Given the description of an element on the screen output the (x, y) to click on. 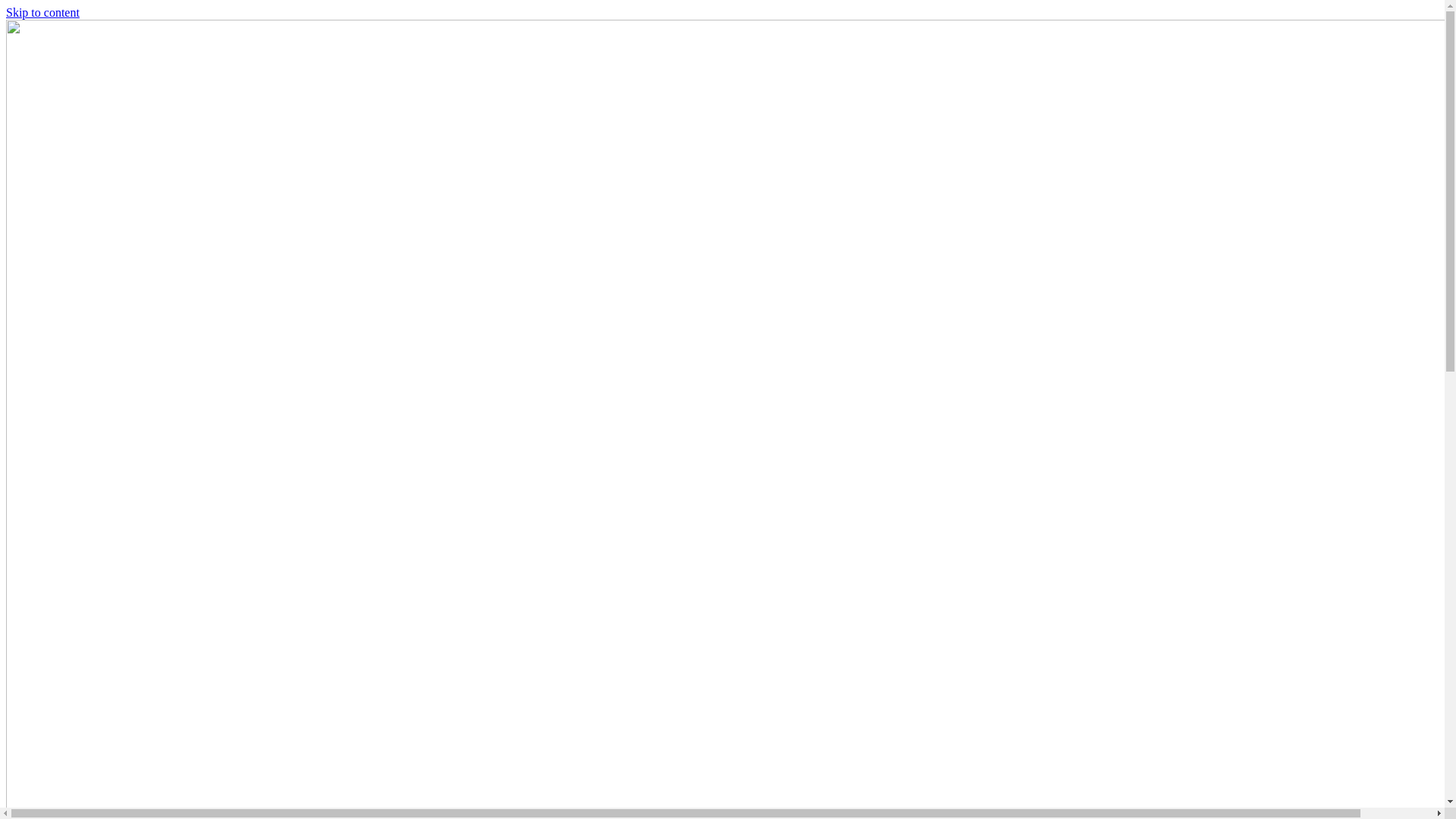
Skip to content Element type: text (42, 12)
